Given the description of an element on the screen output the (x, y) to click on. 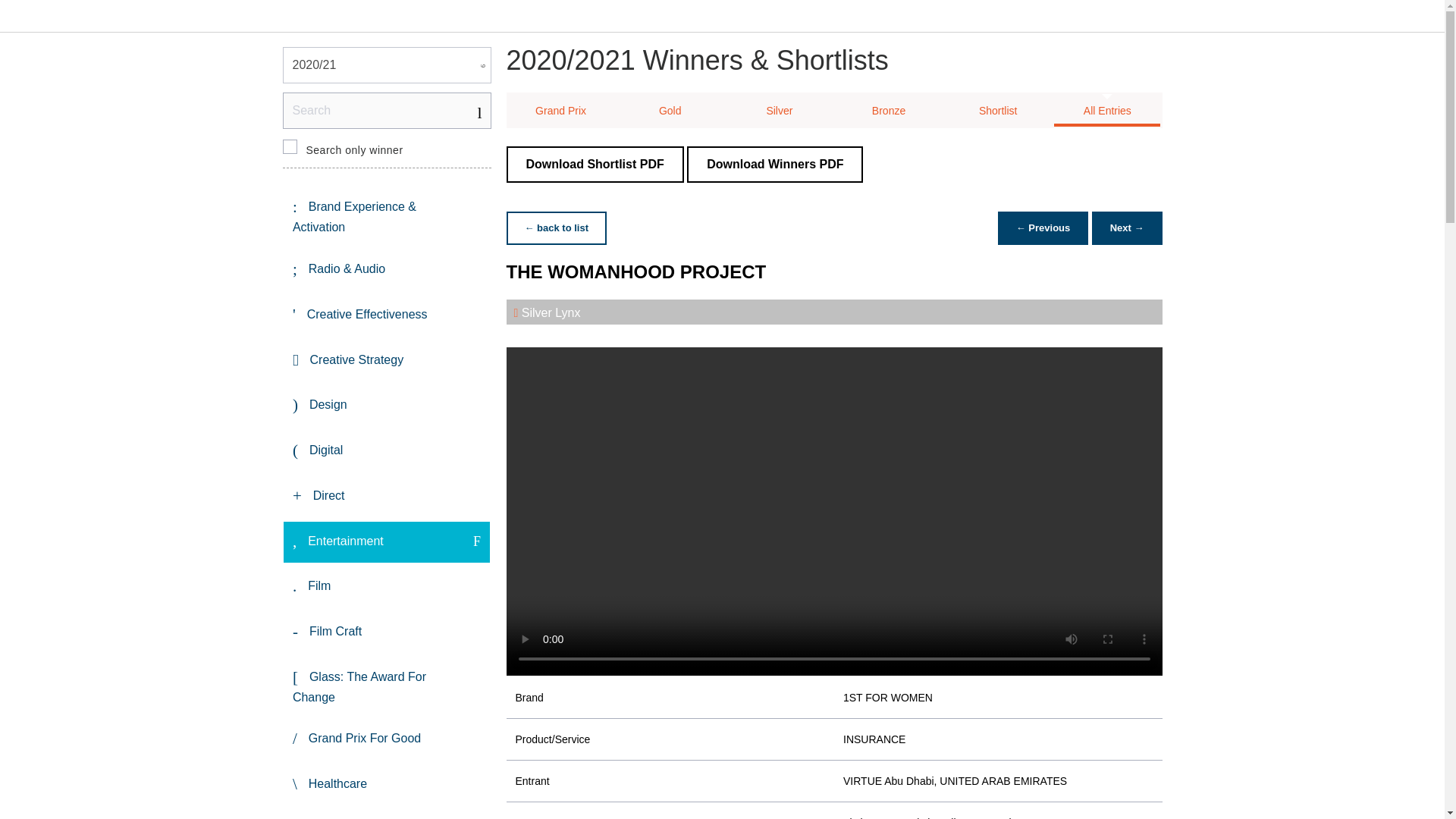
Film Craft (386, 631)
Silver (779, 110)
Grand Prix For Good (386, 739)
Entertainment (386, 541)
Creative Effectiveness (386, 314)
Film (386, 586)
Direct (386, 495)
Grand Prix (561, 110)
Design (386, 404)
Glass: The Award For Change (386, 685)
Bronze (888, 110)
Healthcare (386, 784)
Digital (386, 450)
Creative Effectiveness (386, 314)
Industry Craft (386, 814)
